Given the description of an element on the screen output the (x, y) to click on. 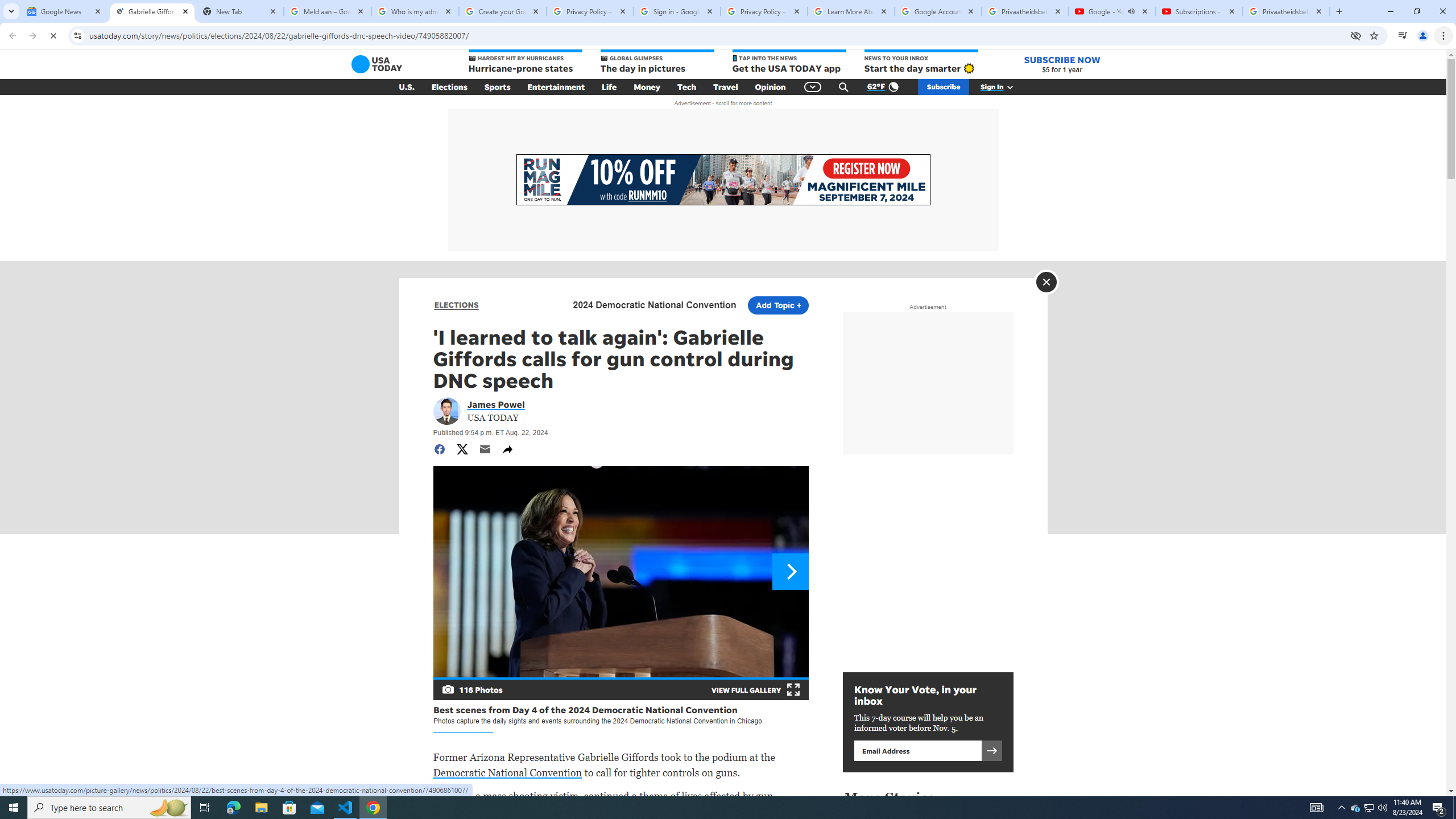
ELECTIONS (456, 304)
Global Navigation (812, 87)
Google - YouTube - Audio playing (1111, 11)
Democratic National Convention (507, 772)
Sports (497, 87)
Subscriptions - YouTube (1198, 11)
